Given the description of an element on the screen output the (x, y) to click on. 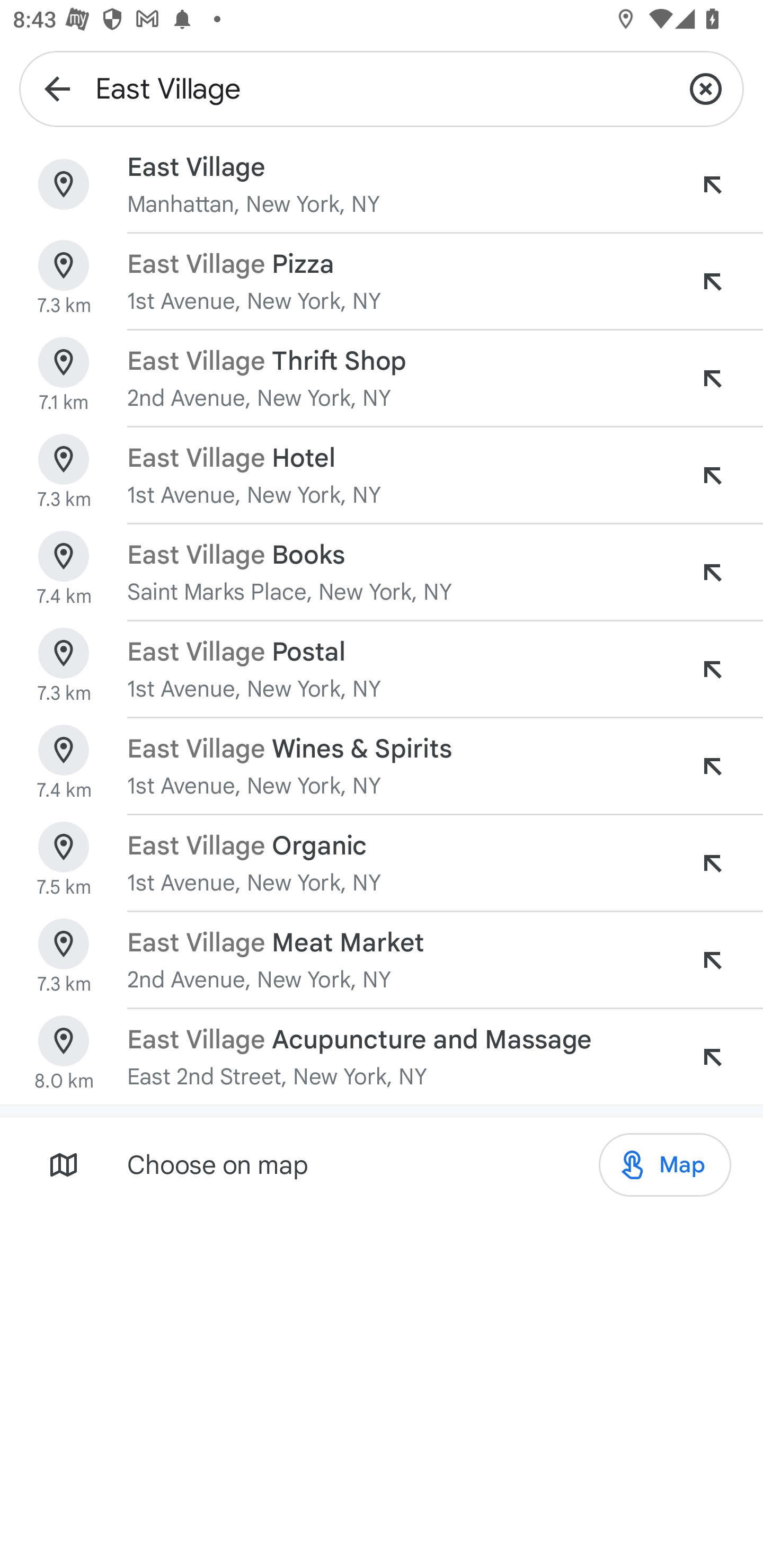
Navigate up (57, 88)
East Village (381, 88)
Clear (705, 88)
Choose on map Map Map Map (381, 1164)
Map Map Map (664, 1164)
